Given the description of an element on the screen output the (x, y) to click on. 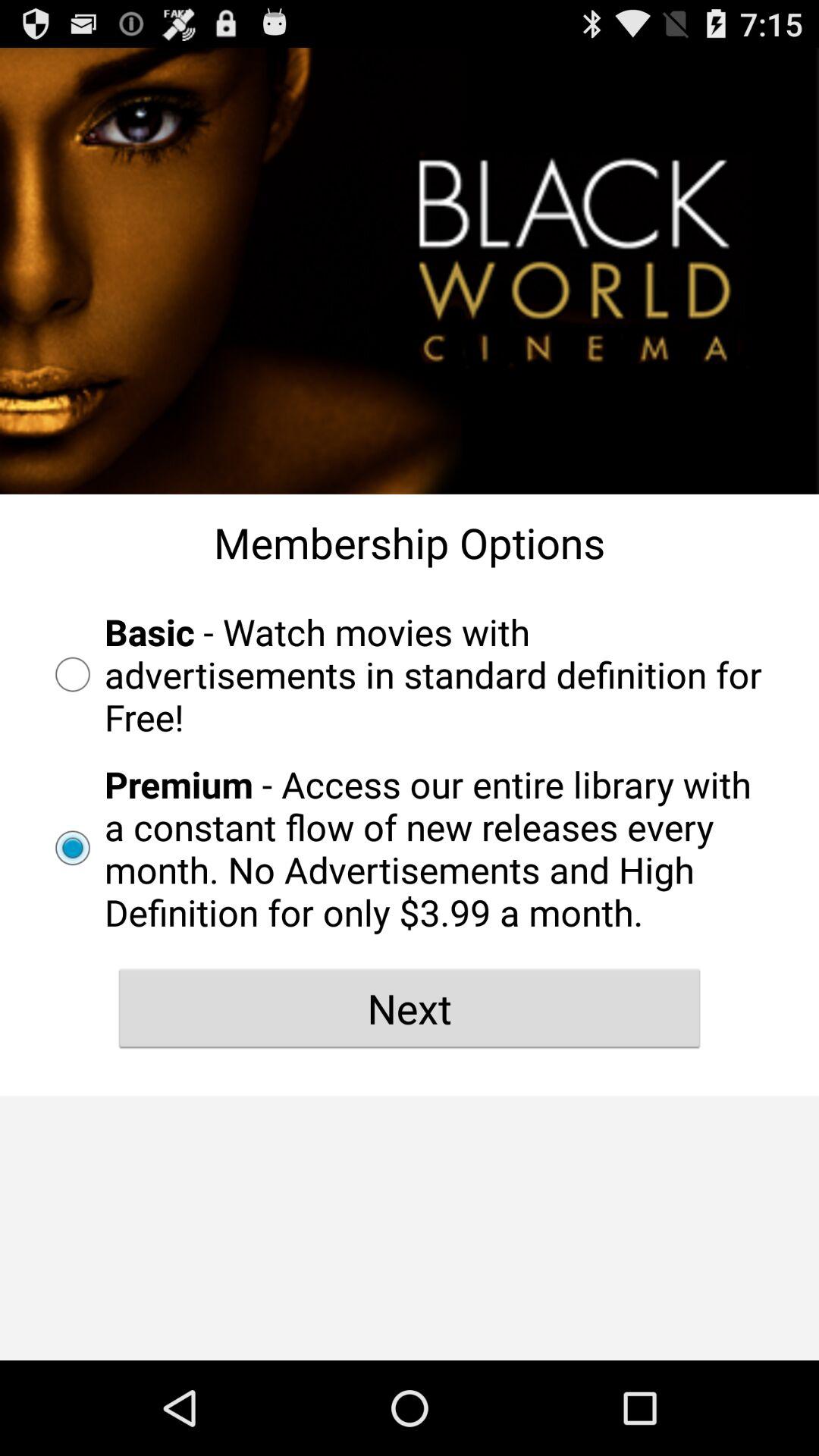
select premium access our (409, 847)
